Given the description of an element on the screen output the (x, y) to click on. 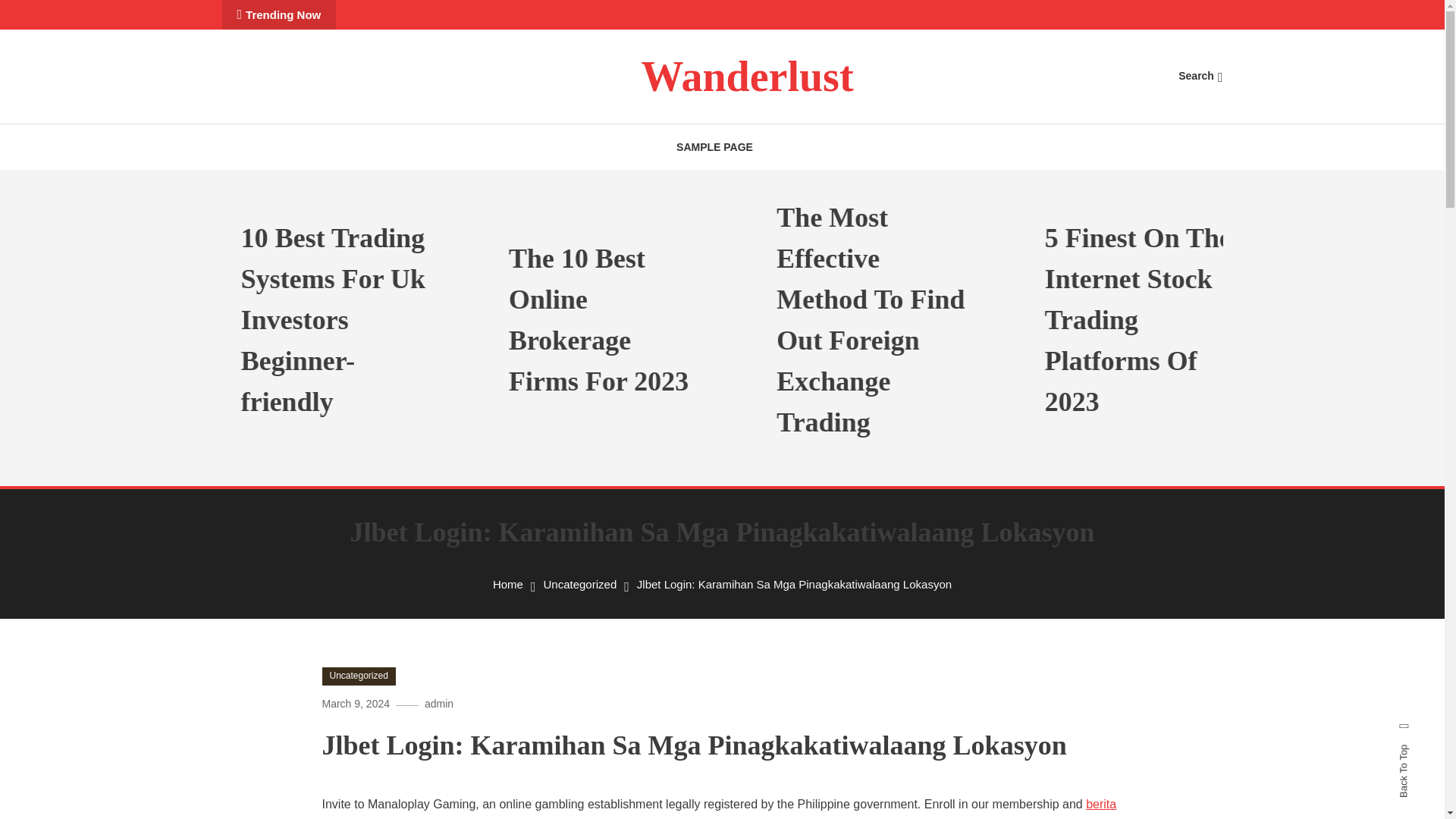
10 Best Trading Systems For Uk Investors Beginner-friendly (376, 319)
Search (768, 434)
SAMPLE PAGE (714, 146)
Search (1200, 75)
Wanderlust (746, 76)
The 10 Best Online Brokerage Firms For 2023 (644, 320)
5 Finest On The Internet Stock Trading Platforms Of 2023 (1180, 319)
